Given the description of an element on the screen output the (x, y) to click on. 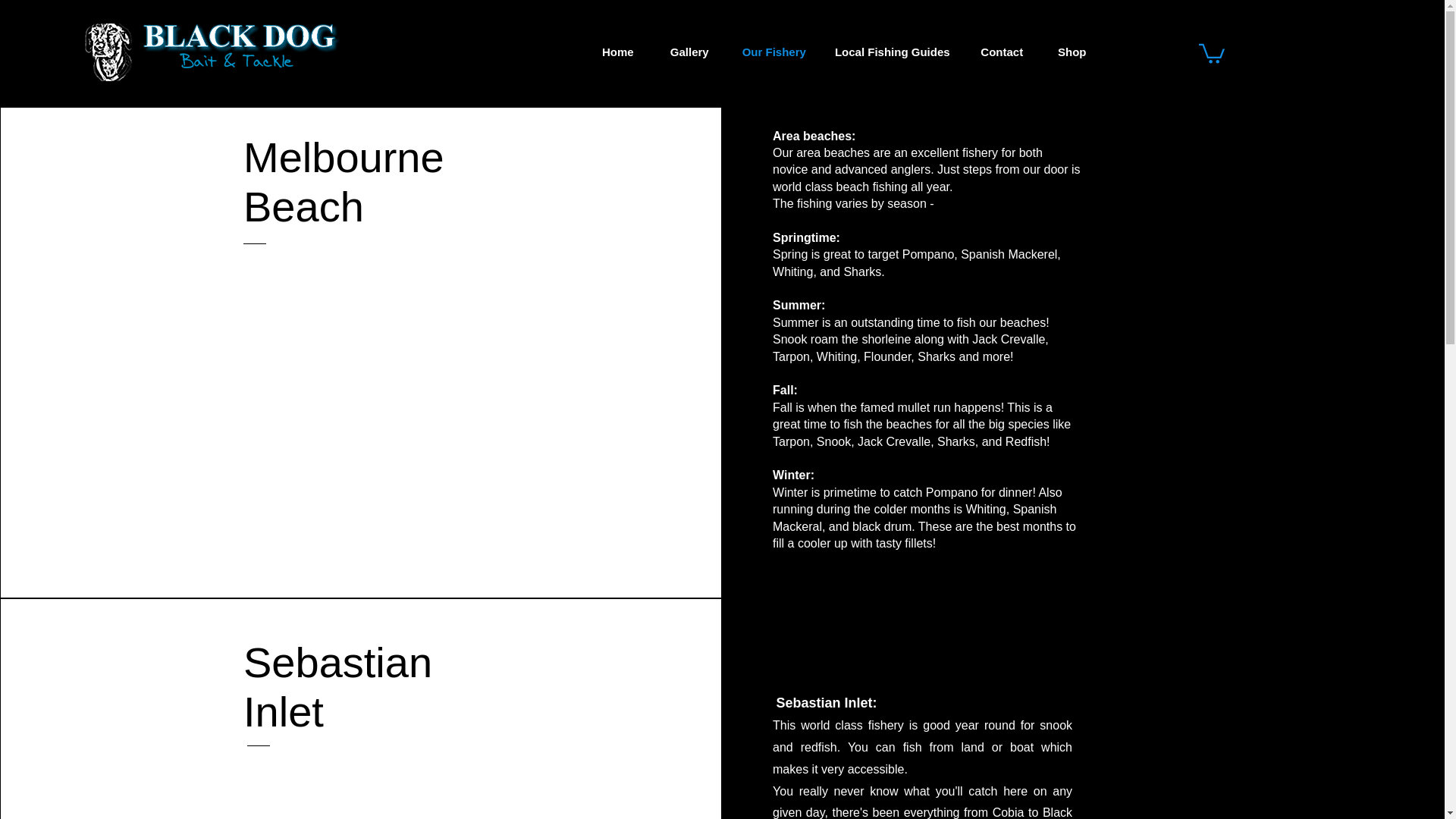
Home (617, 52)
Shop (1072, 52)
Gallery (689, 52)
Local Fishing Guides (891, 52)
Contact (1001, 52)
Our Fishery (773, 52)
